Given the description of an element on the screen output the (x, y) to click on. 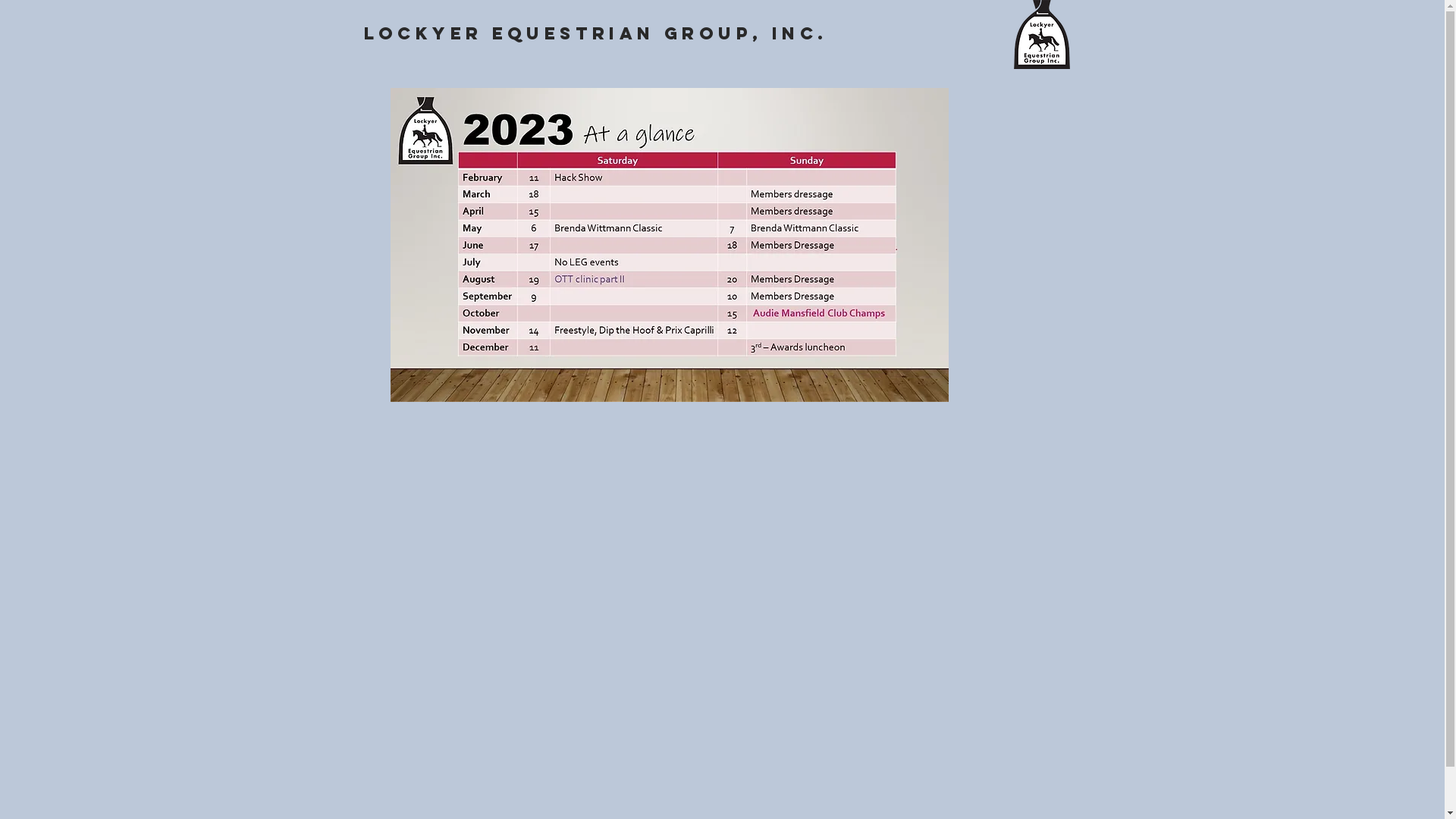
LOCKYER EQUESTRIAN GROUP, INC. Element type: text (596, 32)
2023 dates.jpg Element type: hover (668, 244)
